Given the description of an element on the screen output the (x, y) to click on. 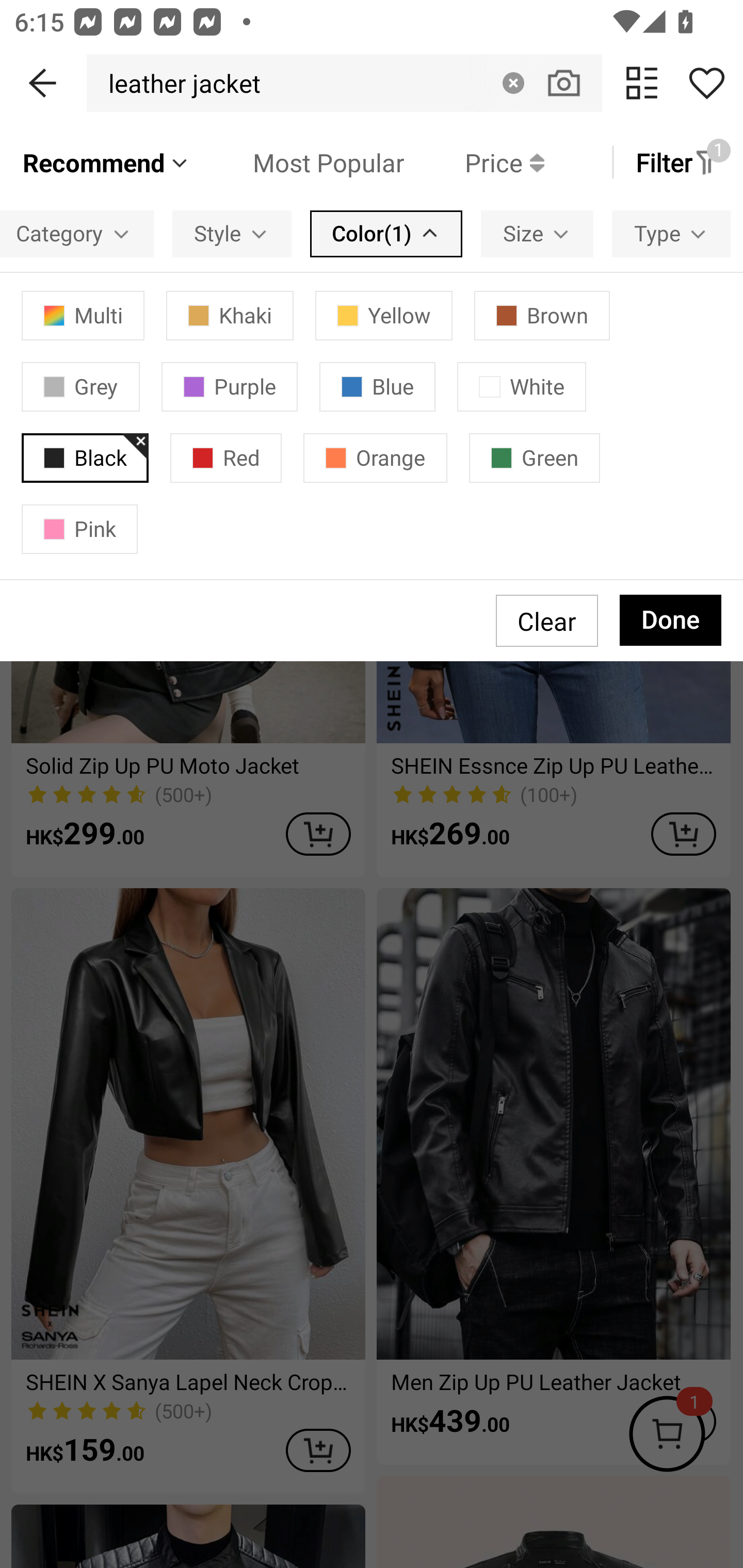
leather jacket Clear (343, 82)
leather jacket (178, 82)
Clear (513, 82)
change view (641, 82)
Share (706, 82)
Recommend (106, 162)
Most Popular (297, 162)
Price (474, 162)
Filter 1 (677, 162)
Category (76, 233)
Style (231, 233)
Color(1) (385, 233)
Size (536, 233)
Type (671, 233)
